Given the description of an element on the screen output the (x, y) to click on. 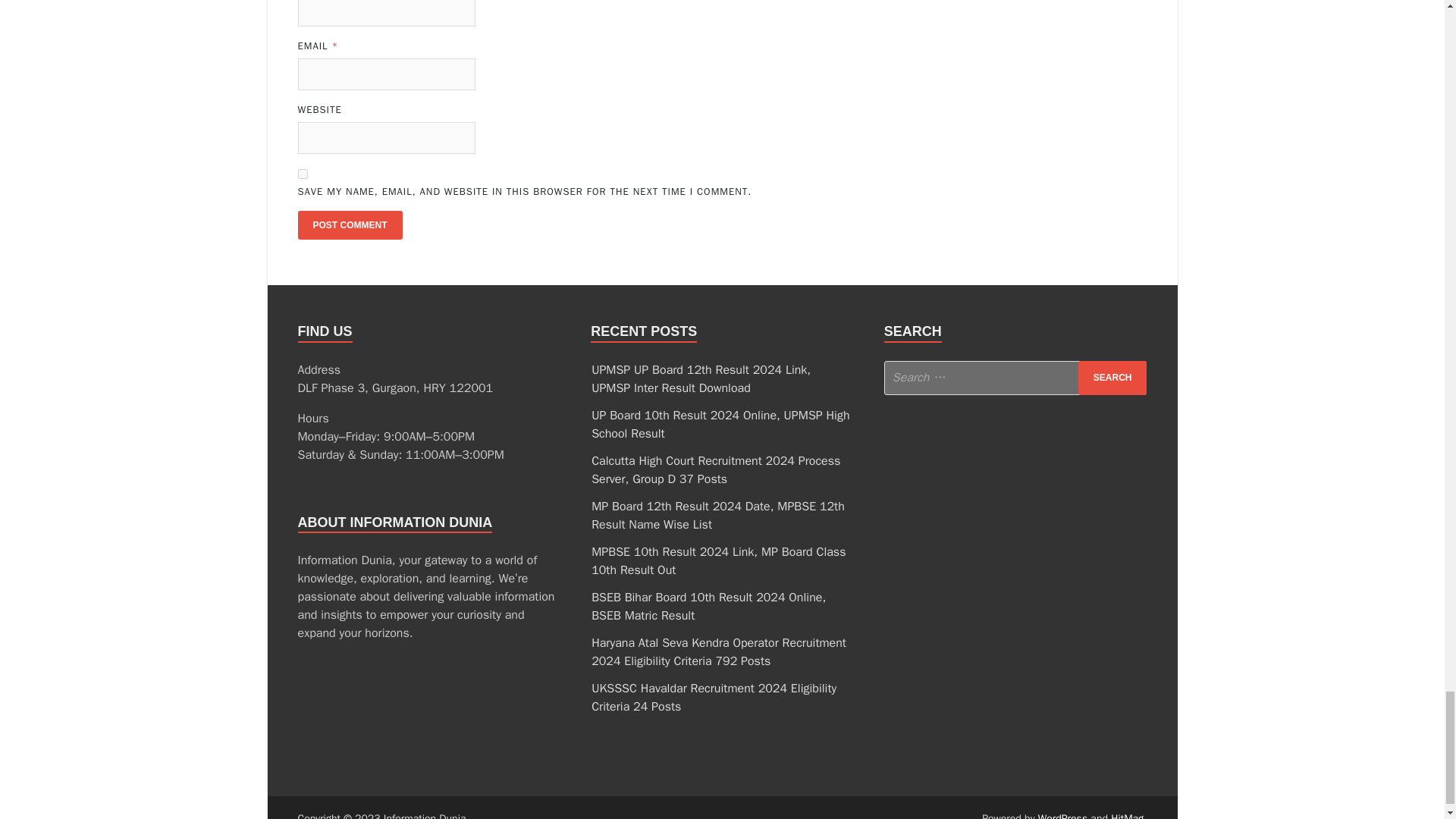
Search (1112, 377)
yes (302, 173)
Post Comment (349, 224)
Search (1112, 377)
